Given the description of an element on the screen output the (x, y) to click on. 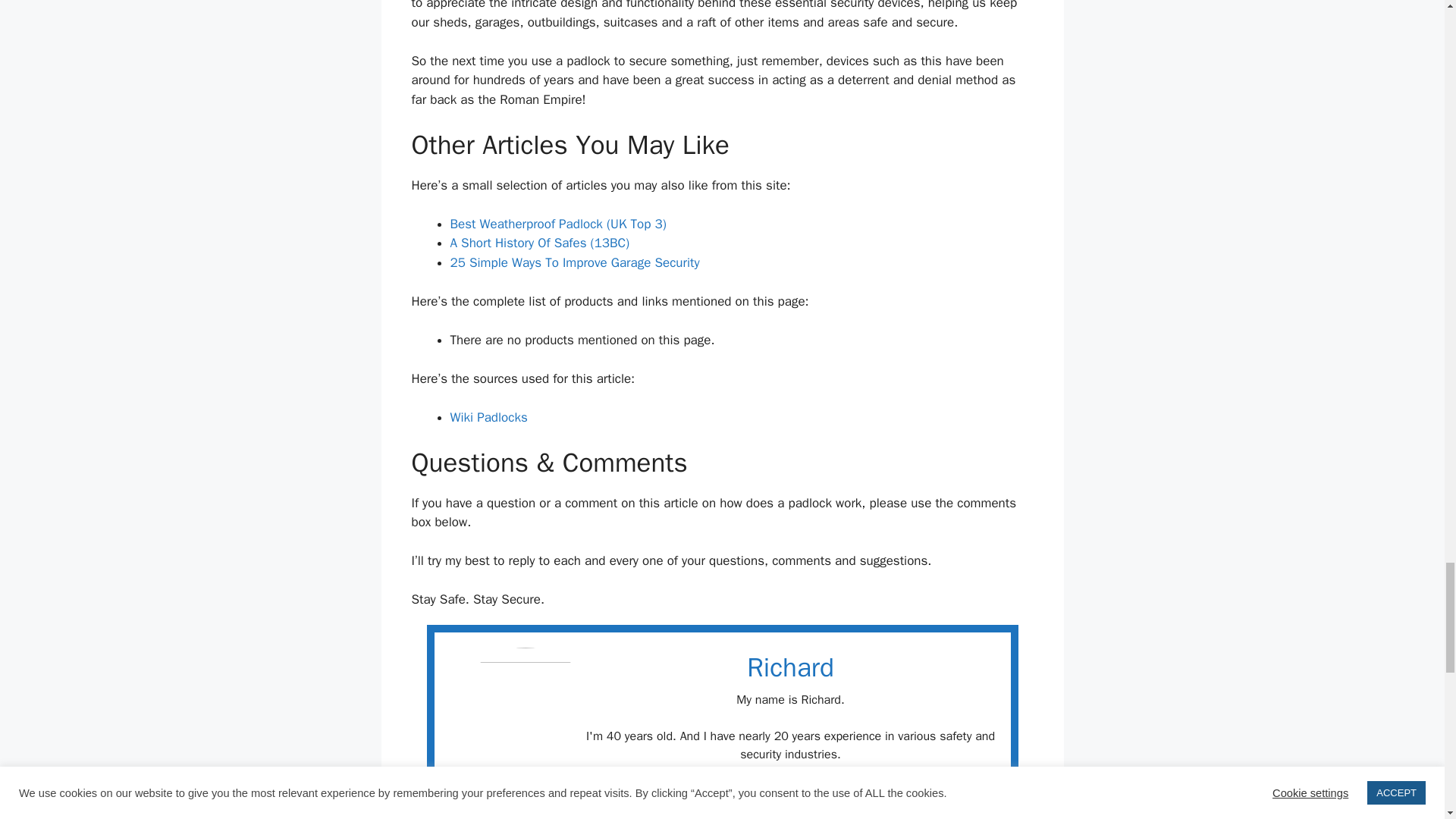
25 Simple Ways To Improve Garage Security (574, 262)
Richard (790, 666)
Wiki Padlocks (488, 417)
